Given the description of an element on the screen output the (x, y) to click on. 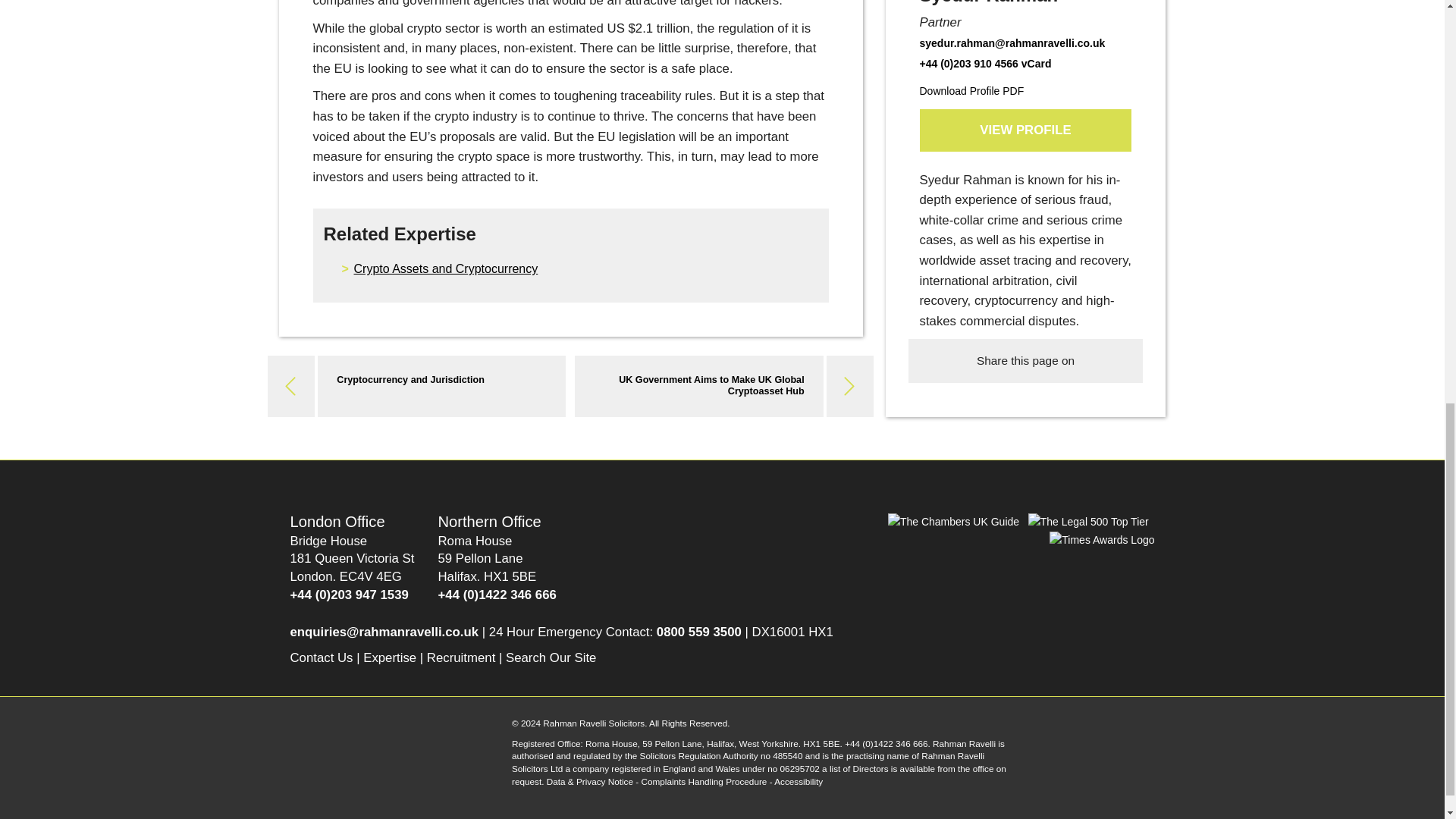
Link to: Crypto Assets and Cryptocurrency (445, 268)
Link to: Cryptocurrency and Jurisdiction (410, 379)
link to view the Rahman Ravelli profile at Legal500 website (1089, 521)
